Given the description of an element on the screen output the (x, y) to click on. 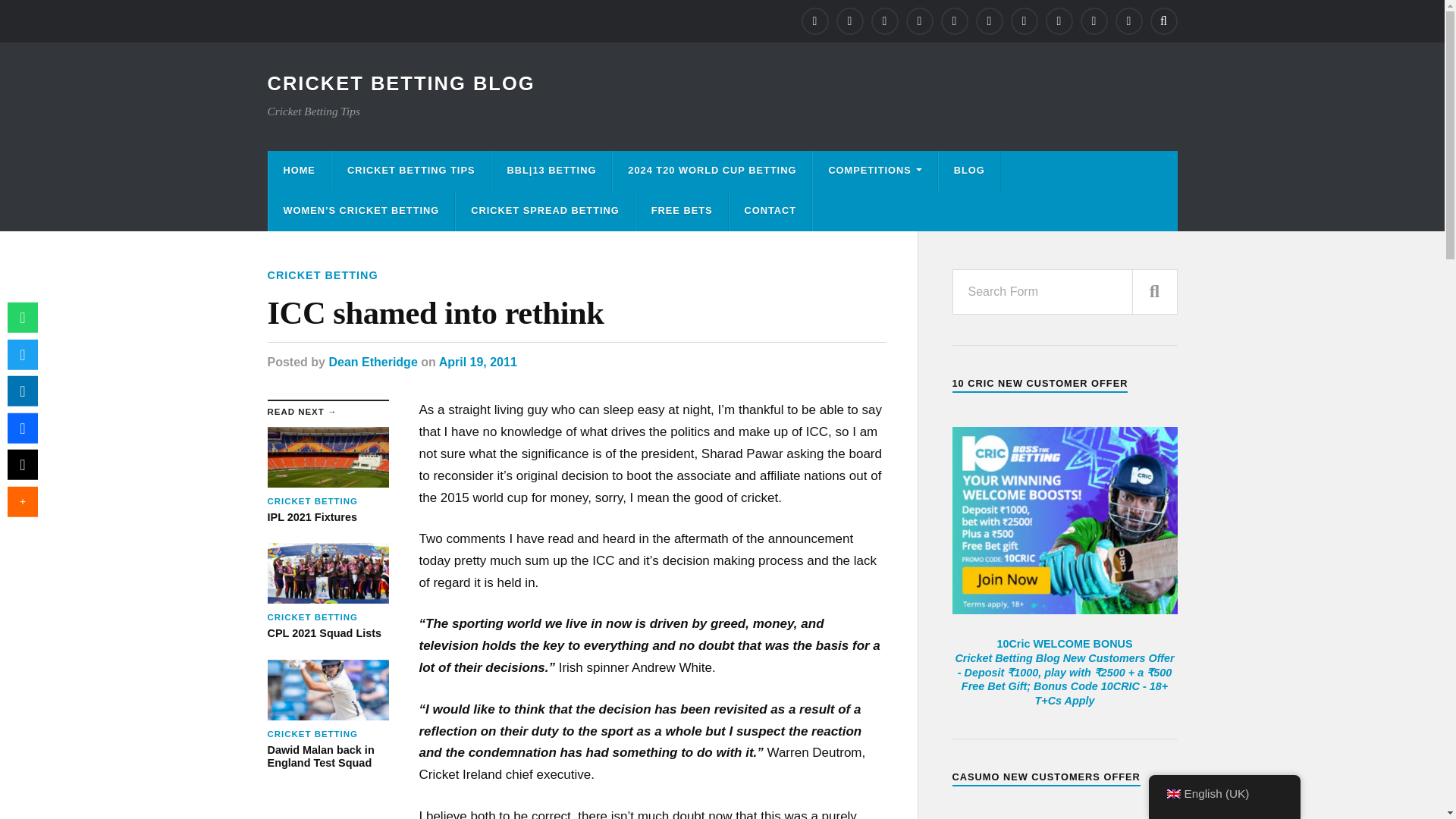
WhatsApp (22, 317)
HOME (298, 170)
CRICKET SPREAD BETTING (544, 210)
CRICKET BETTING BLOG (400, 83)
BLOG (969, 170)
Tweet this ! (22, 354)
CRICKET BETTING TIPS (410, 170)
CONTACT (770, 210)
FREE BETS (682, 210)
2024 T20 WORLD CUP BETTING (711, 170)
COMPETITIONS (874, 170)
